Given the description of an element on the screen output the (x, y) to click on. 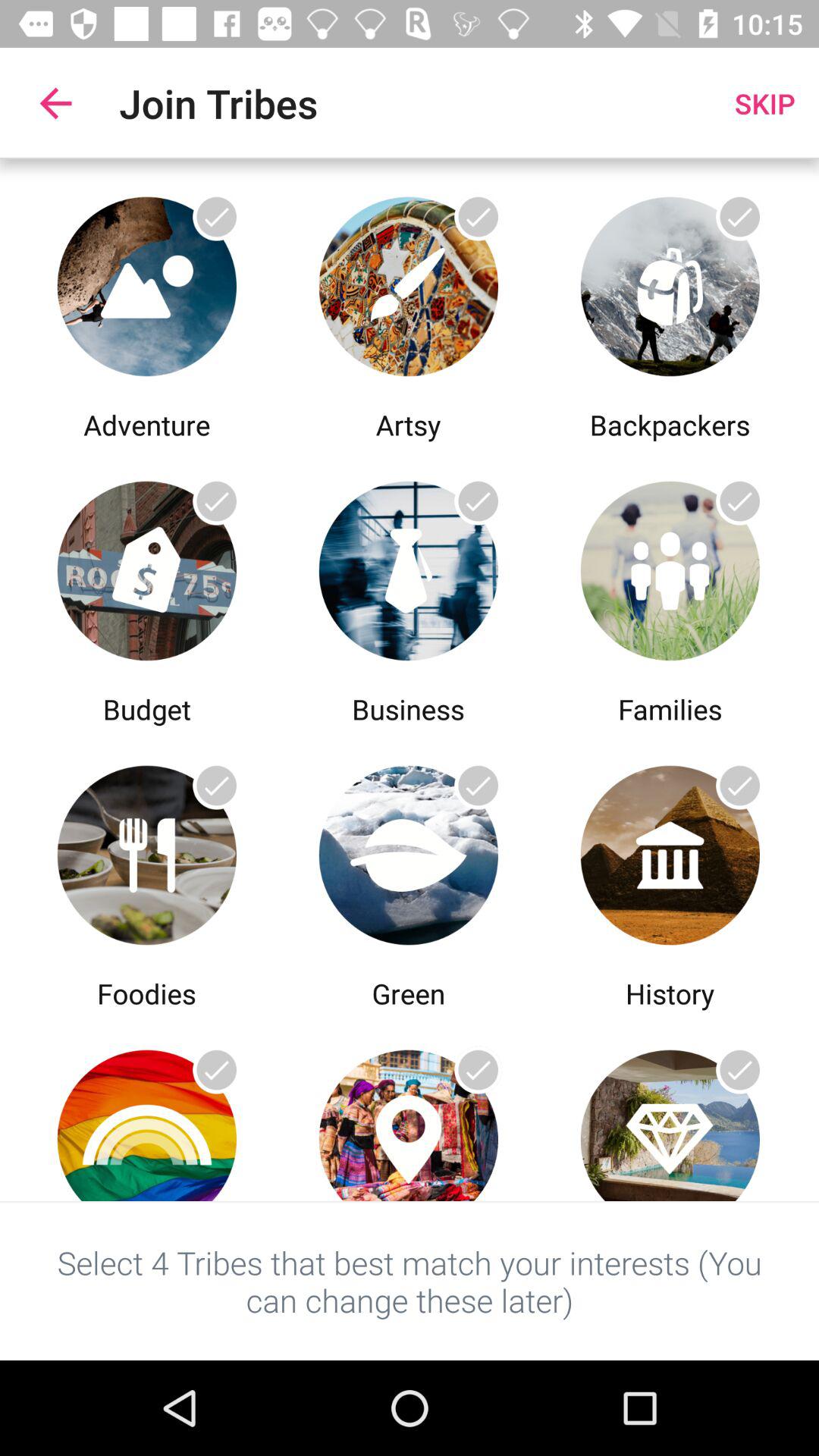
click the item next to join tribes icon (55, 103)
